Given the description of an element on the screen output the (x, y) to click on. 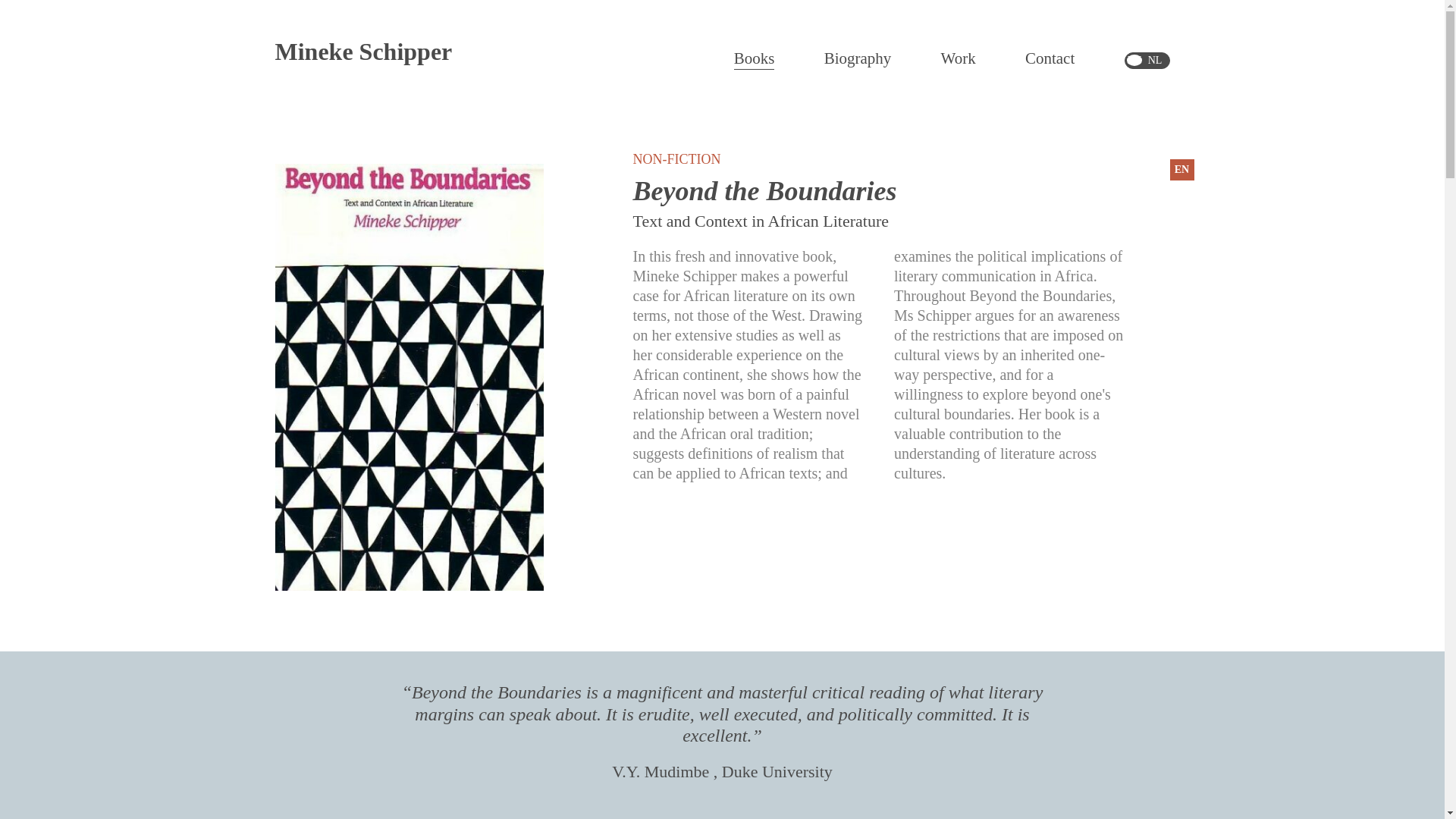
EN (1134, 60)
Books (753, 58)
NL (1154, 60)
Contact (1049, 58)
Biography (857, 58)
EN (1181, 169)
Work (957, 58)
Mineke Schipper (363, 51)
